Given the description of an element on the screen output the (x, y) to click on. 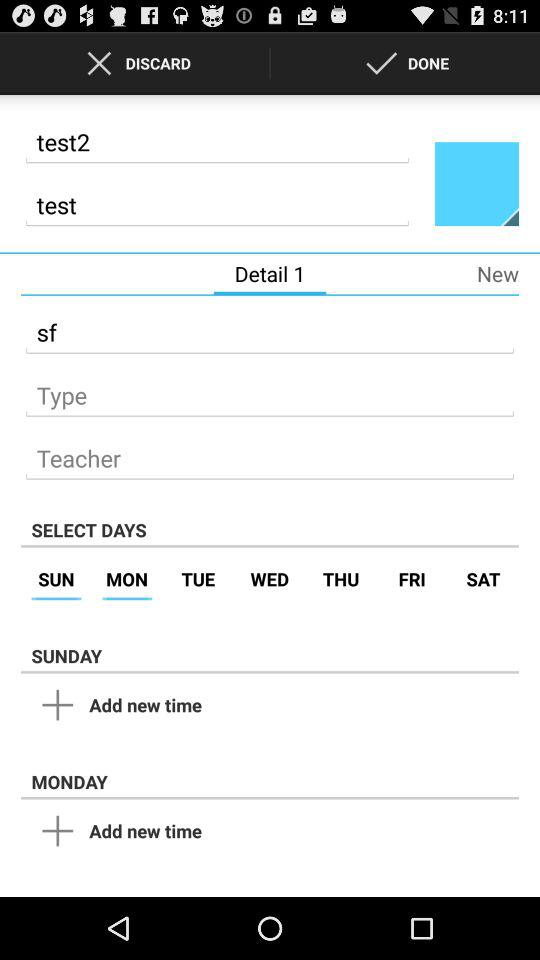
type teacher name (270, 452)
